Given the description of an element on the screen output the (x, y) to click on. 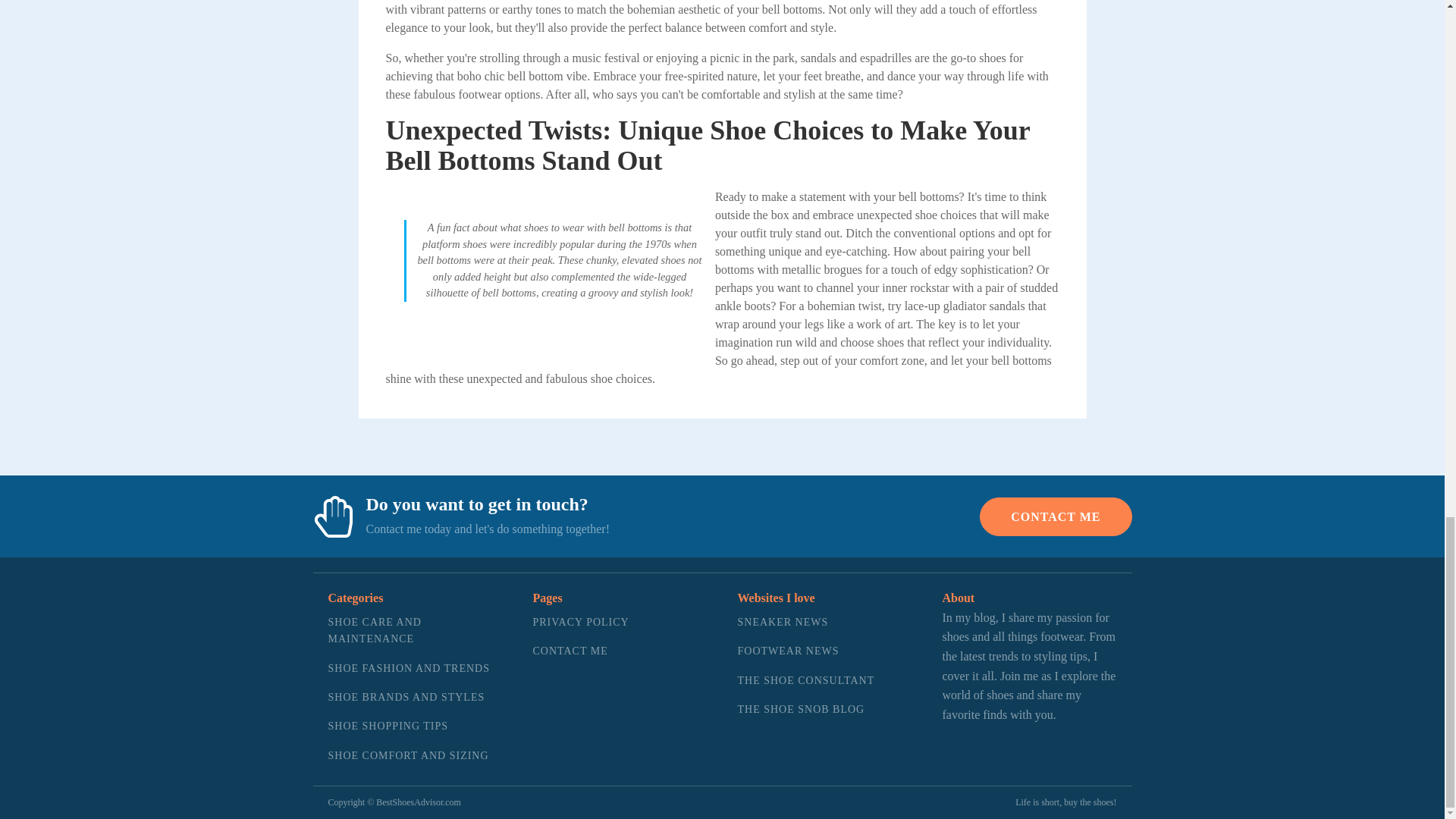
PRIVACY POLICY (580, 622)
CONTACT ME (1055, 516)
SHOE COMFORT AND SIZING (414, 756)
THE SHOE SNOB BLOG (805, 709)
SHOE BRANDS AND STYLES (414, 697)
SNEAKER NEWS (805, 622)
THE SHOE CONSULTANT (805, 680)
CONTACT ME (580, 651)
FOOTWEAR NEWS (805, 651)
SHOE FASHION AND TRENDS (414, 668)
